Given the description of an element on the screen output the (x, y) to click on. 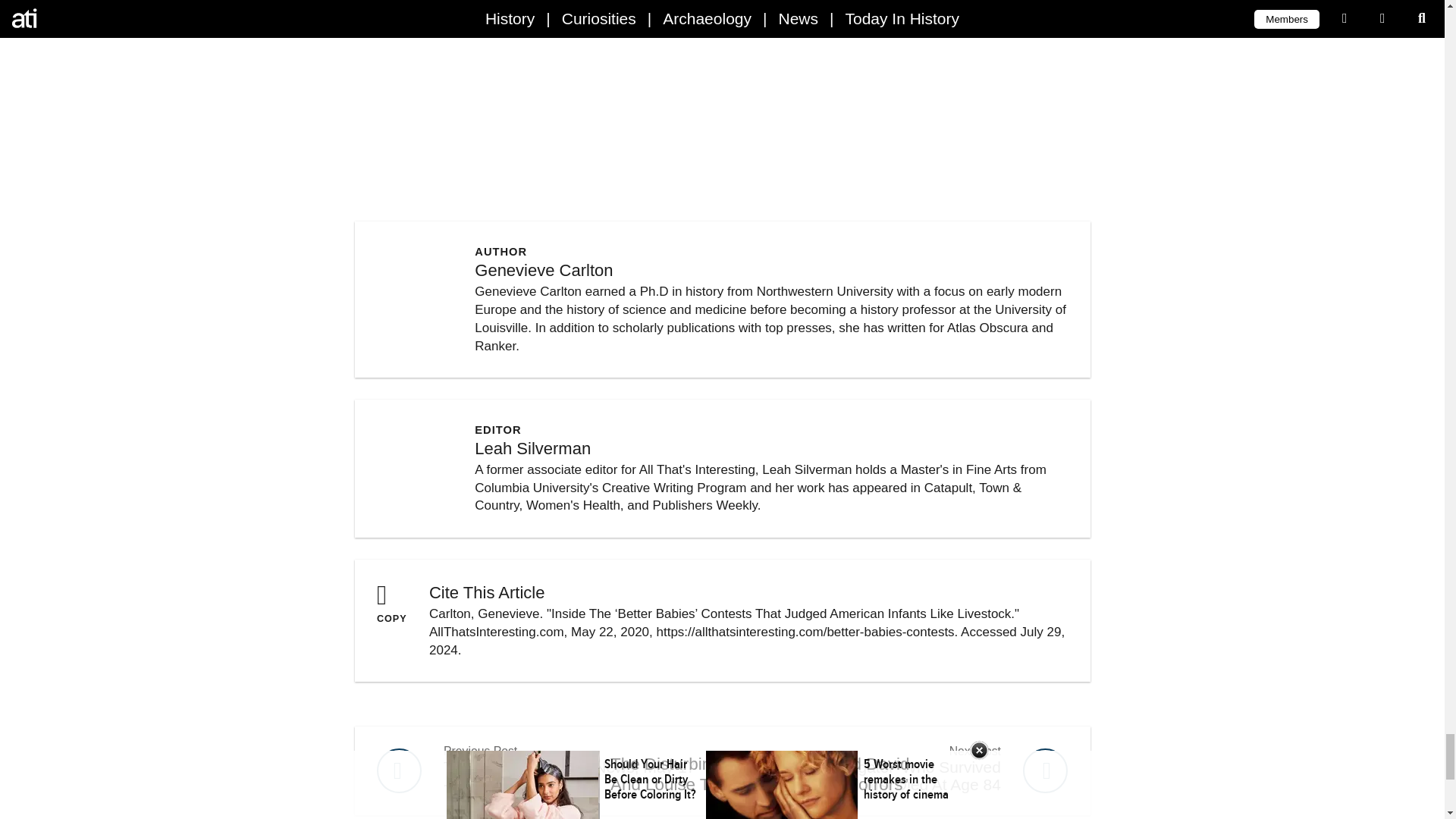
This Week In History News, May 17 - 23 (538, 770)
Genevieve Carlton (543, 270)
Leah Silverman (532, 447)
3rd party ad content (538, 770)
